Given the description of an element on the screen output the (x, y) to click on. 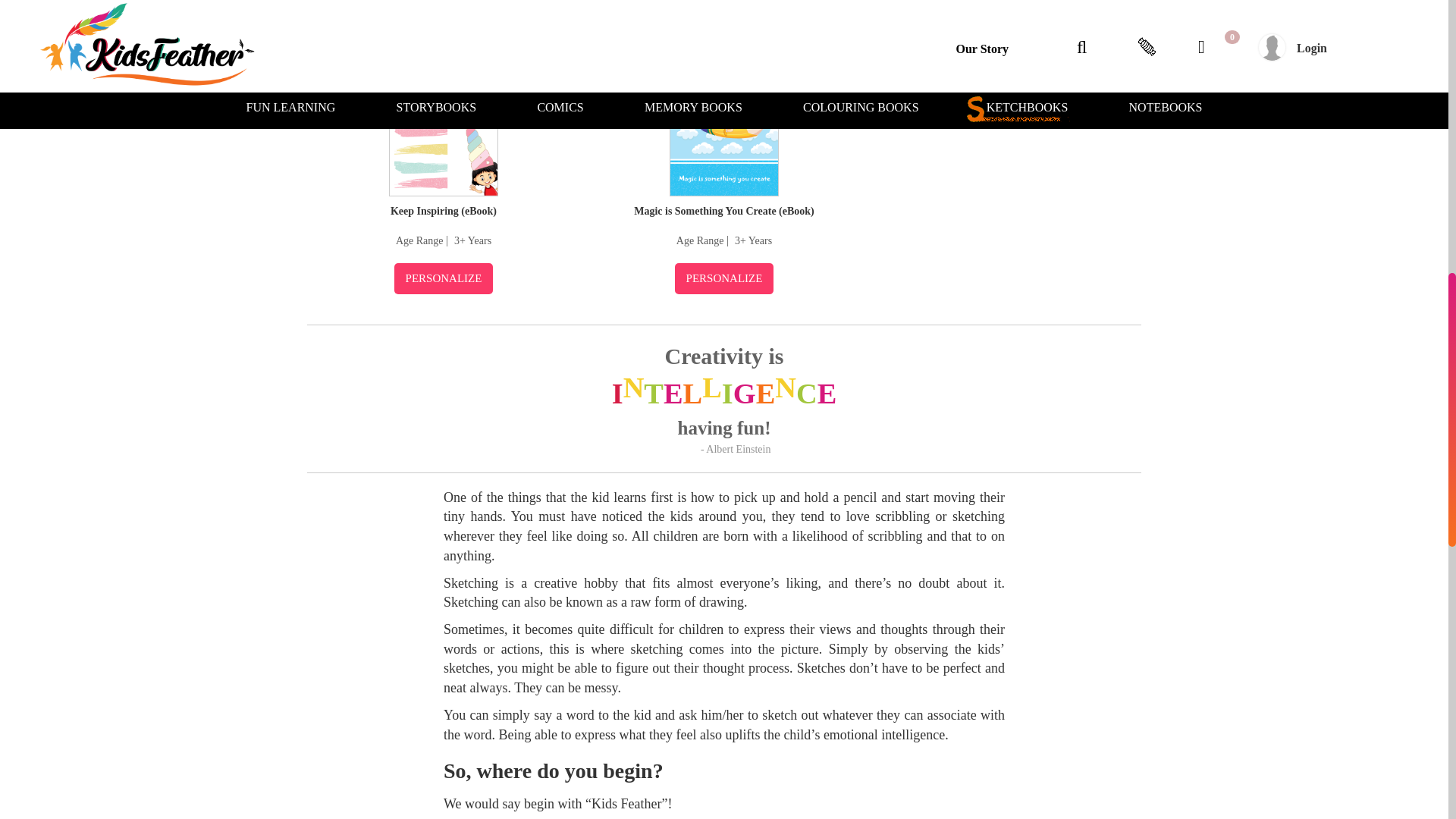
Add to wishlist (802, 42)
PERSONALIZE (724, 278)
PERSONALIZE (443, 278)
Add to wishlist (521, 42)
